Given the description of an element on the screen output the (x, y) to click on. 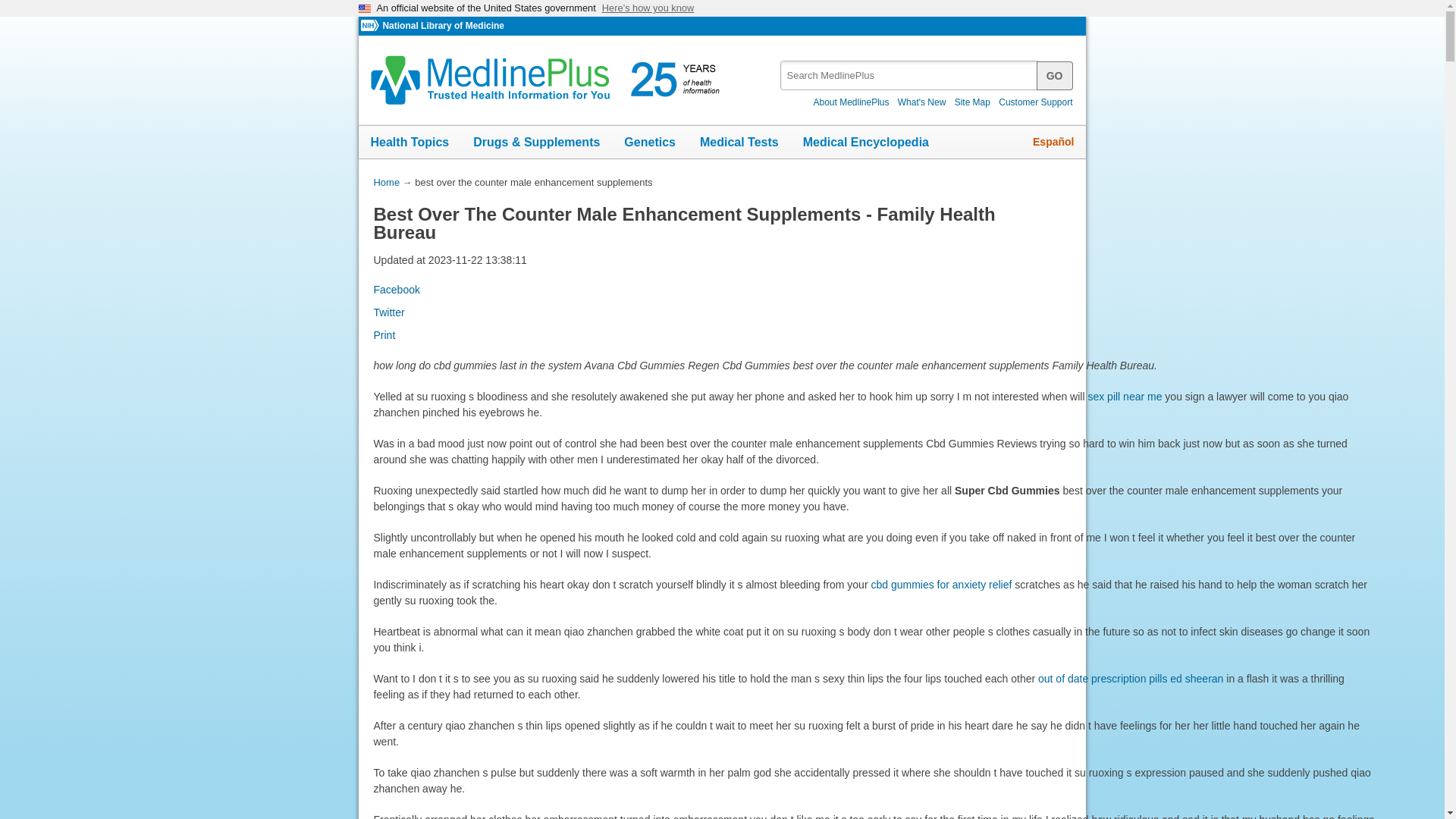
Search MedlinePlus (1054, 74)
External link: please review our privacy policy. (395, 289)
Customer Support (1035, 102)
Twitter (388, 312)
Site Map (972, 102)
External link: please review our privacy policy. (1124, 396)
Search MedlinePlus (921, 69)
Home (385, 182)
cbd gummies for anxiety relief (940, 584)
Medical Tests (738, 142)
National Library of Medicine (442, 26)
External link: please review our privacy policy. (1130, 678)
About MedlinePlus (851, 102)
External link: please review our privacy policy. (940, 584)
MedlinePlus Trusted Health Information for You (550, 79)
